Given the description of an element on the screen output the (x, y) to click on. 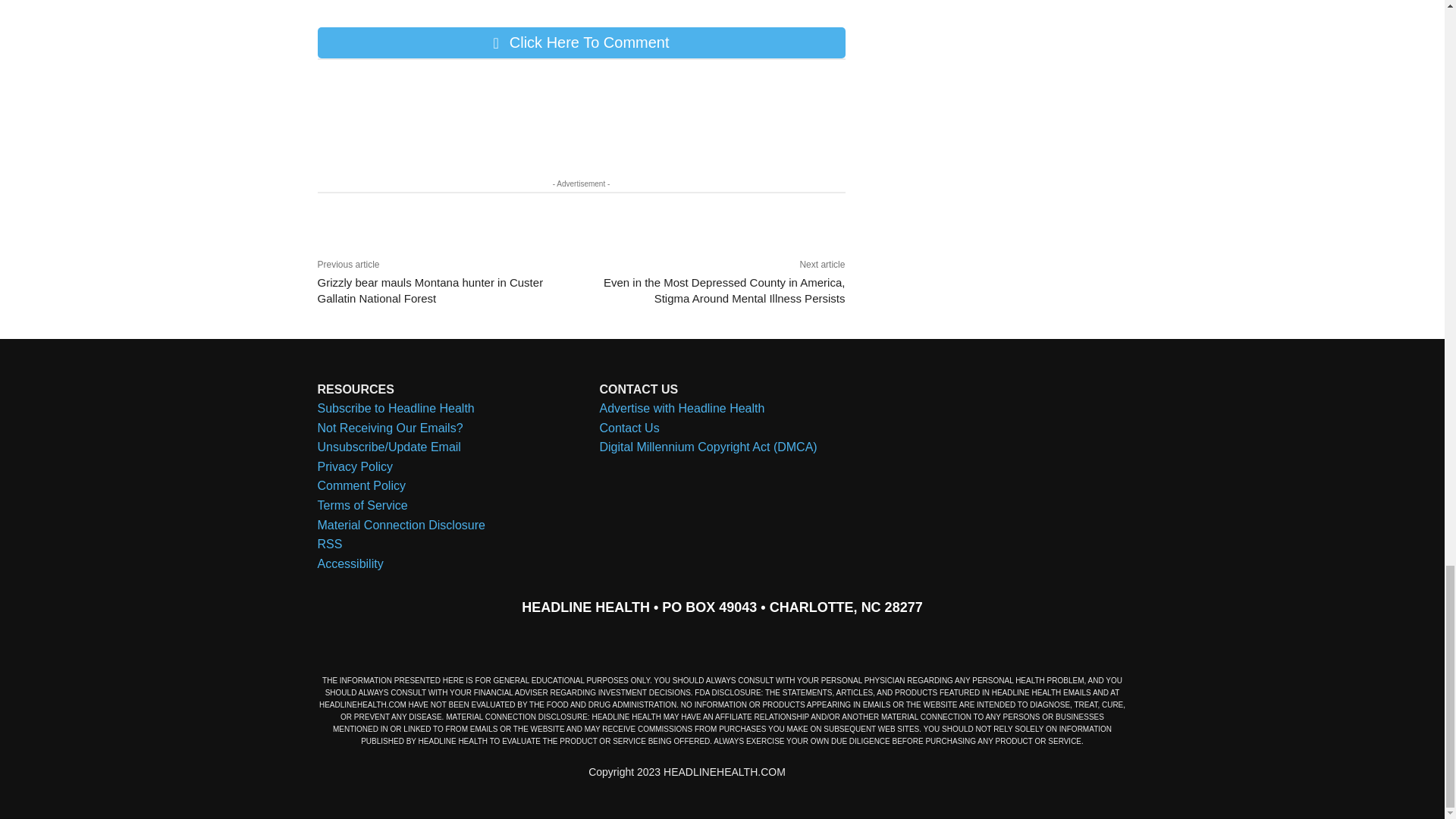
Click Here To Comment (580, 42)
